Given the description of an element on the screen output the (x, y) to click on. 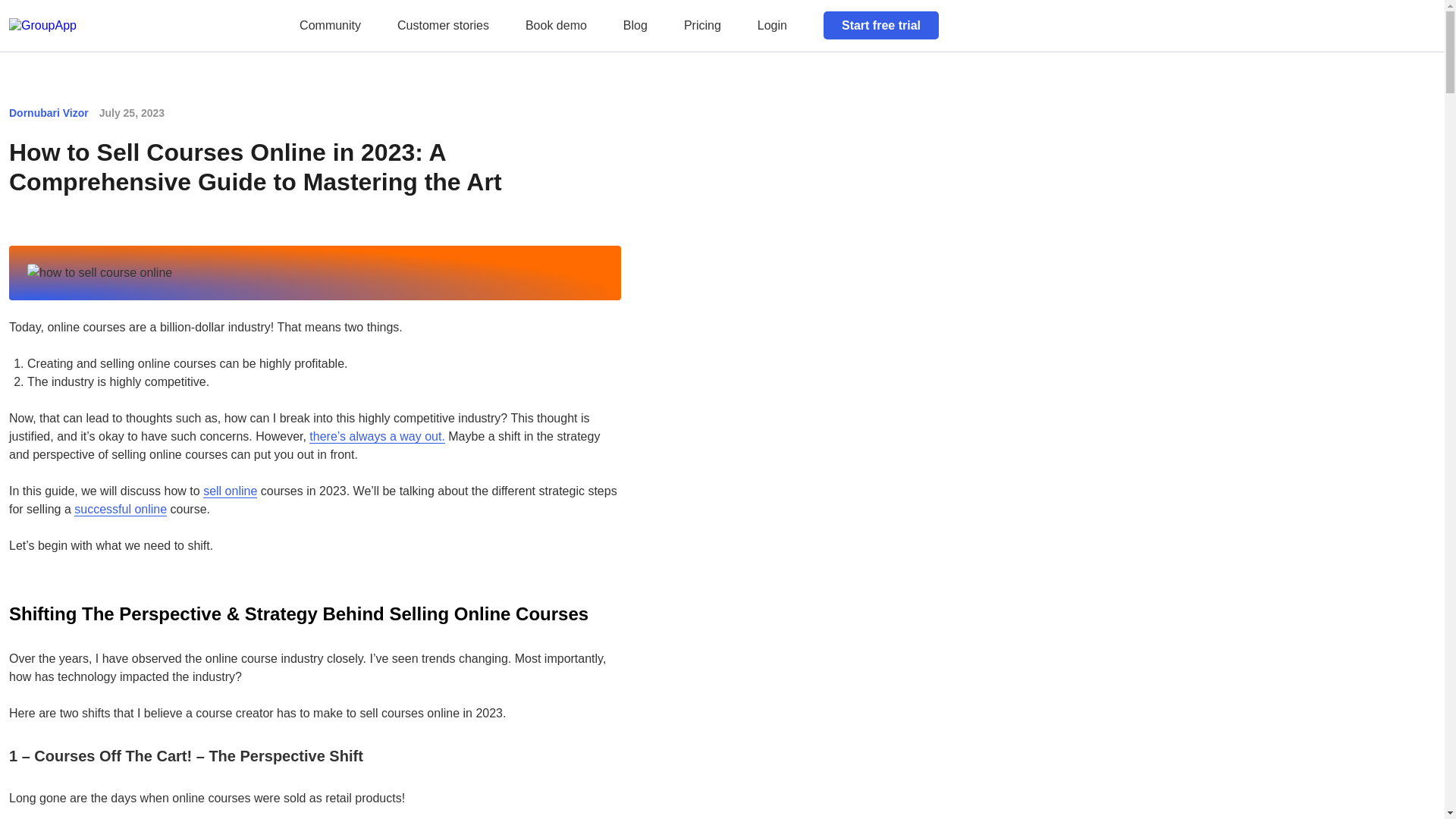
successful online (120, 509)
sell online (230, 490)
Start free trial (881, 25)
Login (772, 24)
Blog (635, 24)
Community (330, 24)
Customer stories (443, 24)
Pricing (702, 24)
Book demo (555, 24)
GroupApp (36, 40)
